Given the description of an element on the screen output the (x, y) to click on. 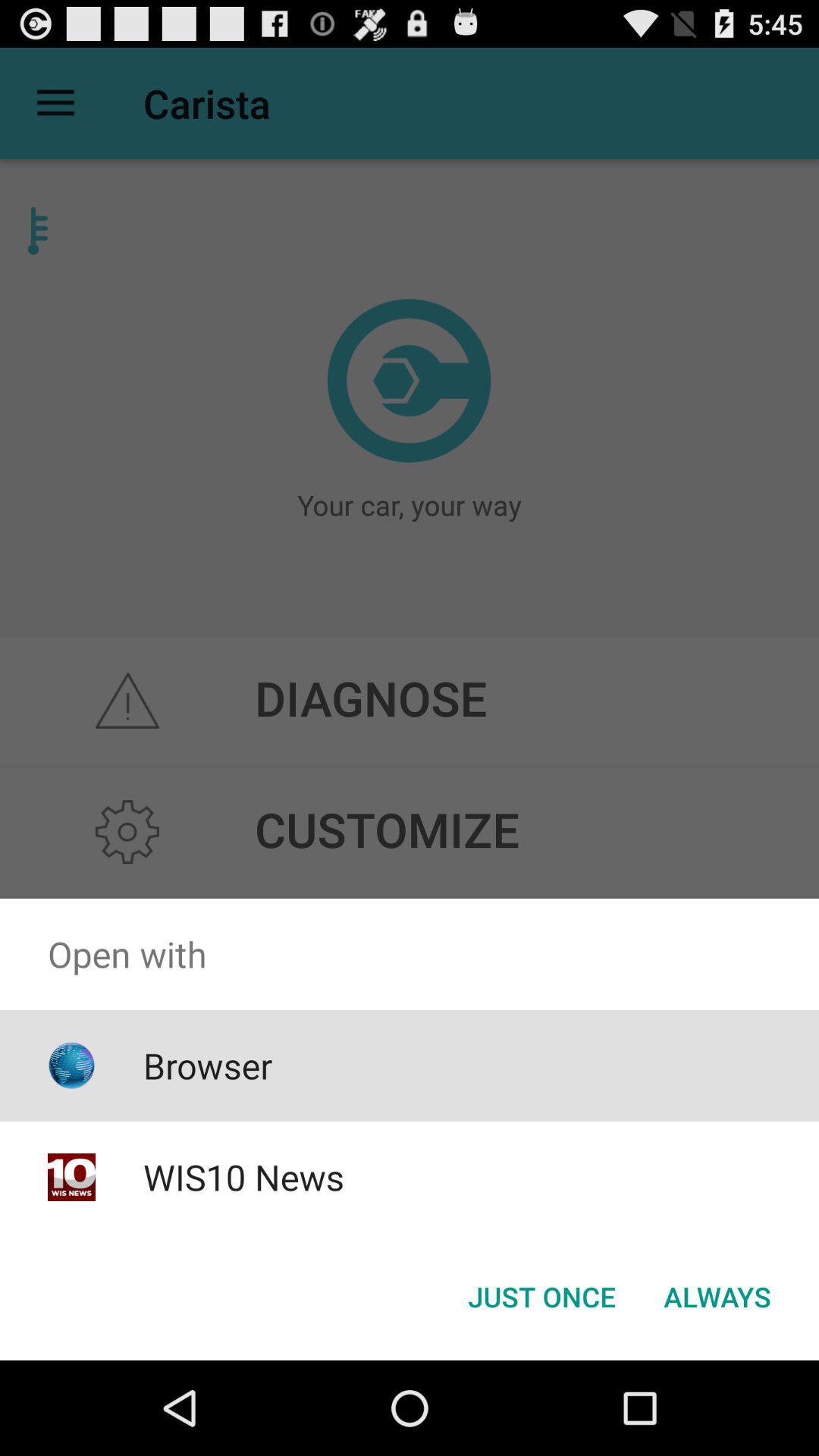
click the just once (541, 1296)
